Given the description of an element on the screen output the (x, y) to click on. 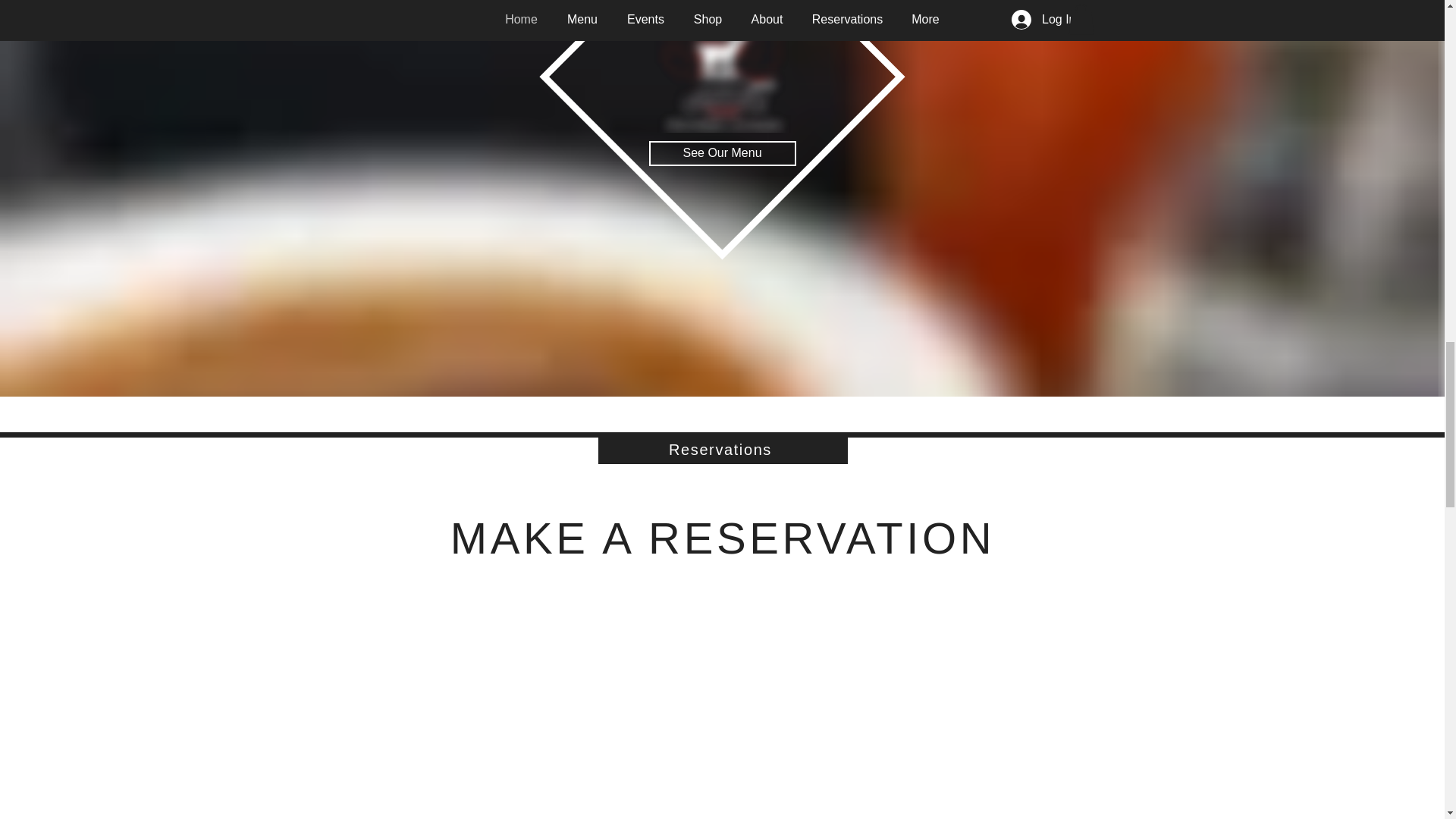
See Our Menu (722, 153)
